Given the description of an element on the screen output the (x, y) to click on. 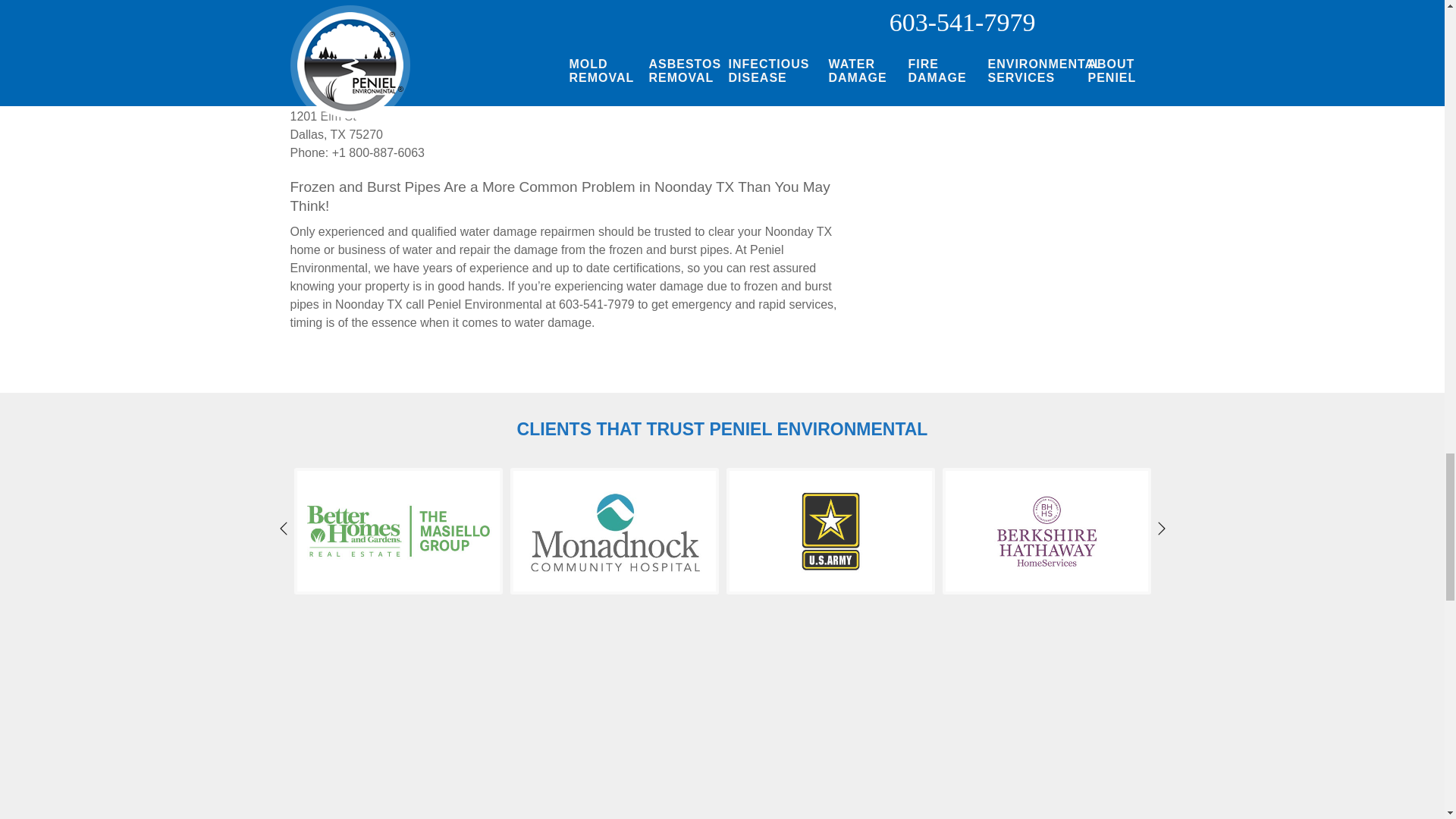
Army-Logo (830, 530)
